Given the description of an element on the screen output the (x, y) to click on. 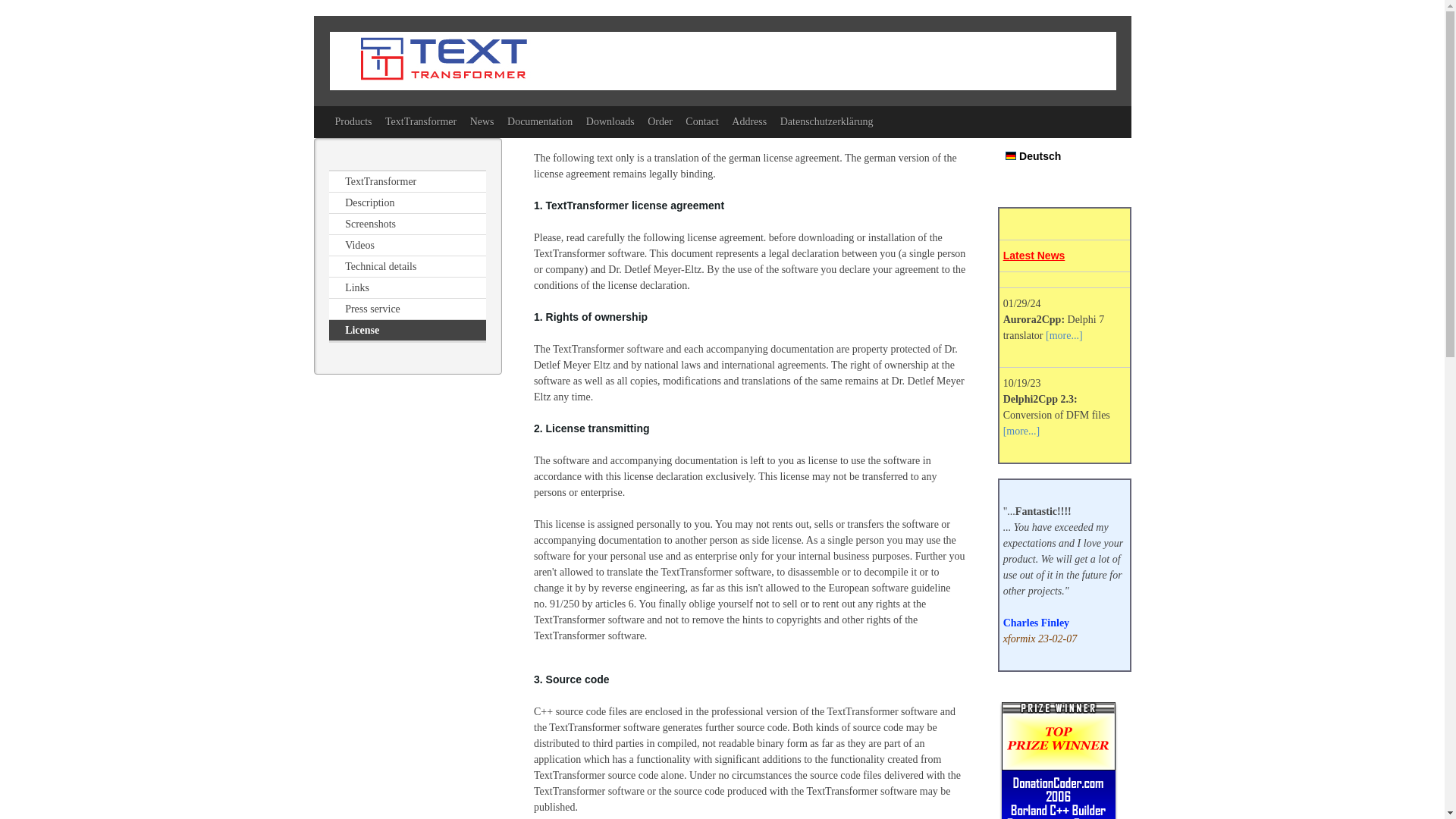
Deutsch (1033, 156)
Address (748, 121)
TextTransformer (407, 181)
Products (353, 121)
Videos (407, 245)
Description (407, 202)
Links (407, 287)
Order (660, 121)
Documentation (540, 121)
News (481, 121)
Downloads (610, 121)
Press service (407, 309)
Screenshots (407, 224)
TextTransformer (420, 121)
Contact (701, 121)
